Given the description of an element on the screen output the (x, y) to click on. 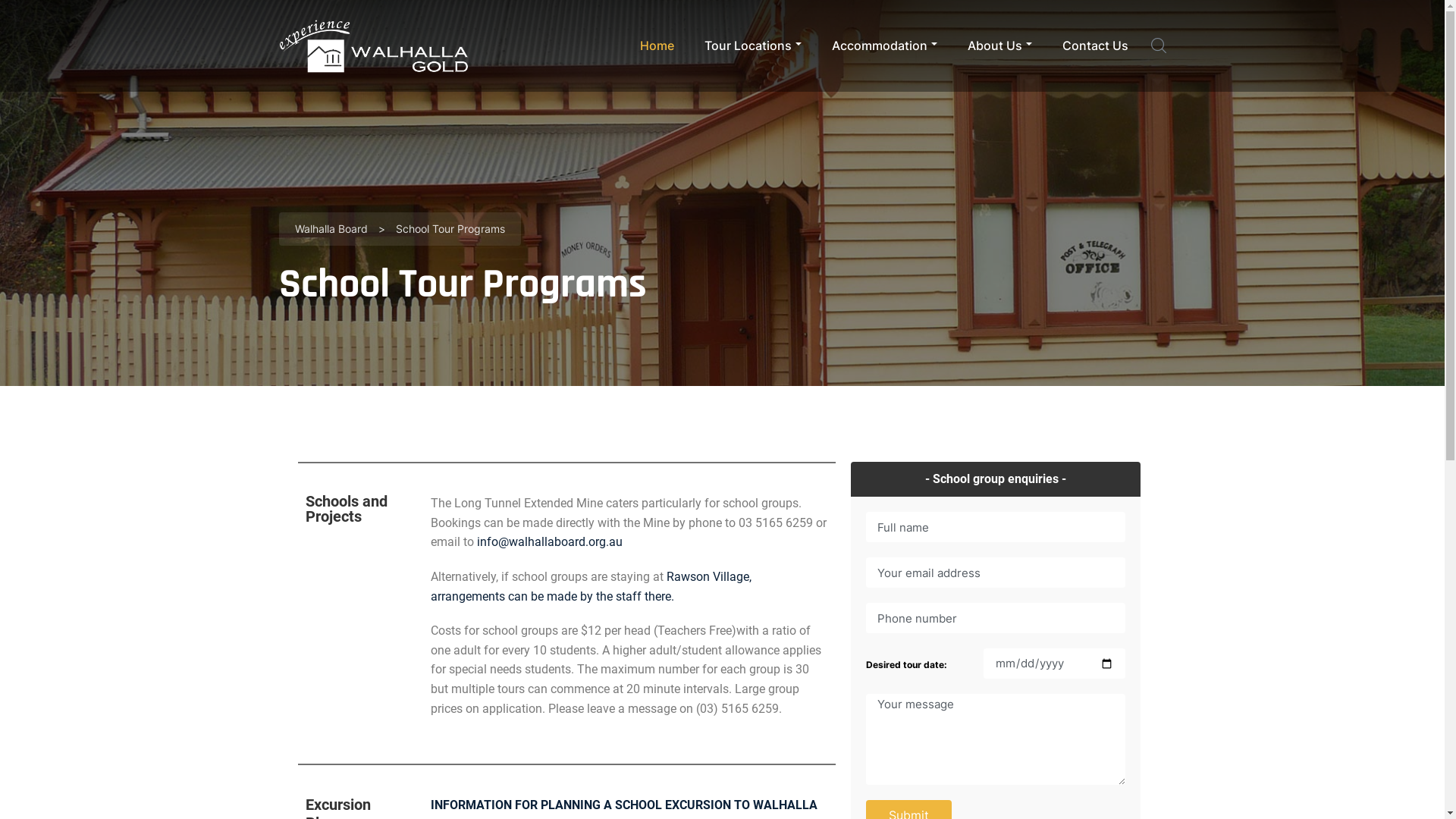
Contact Us Element type: text (1094, 46)
Walhalla Board Element type: text (330, 229)
info@walhallaboard.org.au Element type: text (549, 541)
About Us Element type: text (999, 46)
Accommodation Element type: text (883, 46)
Rawson Village, arrangements can be made by the staff there. Element type: text (590, 586)
Tour Locations Element type: text (751, 46)
Home Element type: text (657, 46)
